Given the description of an element on the screen output the (x, y) to click on. 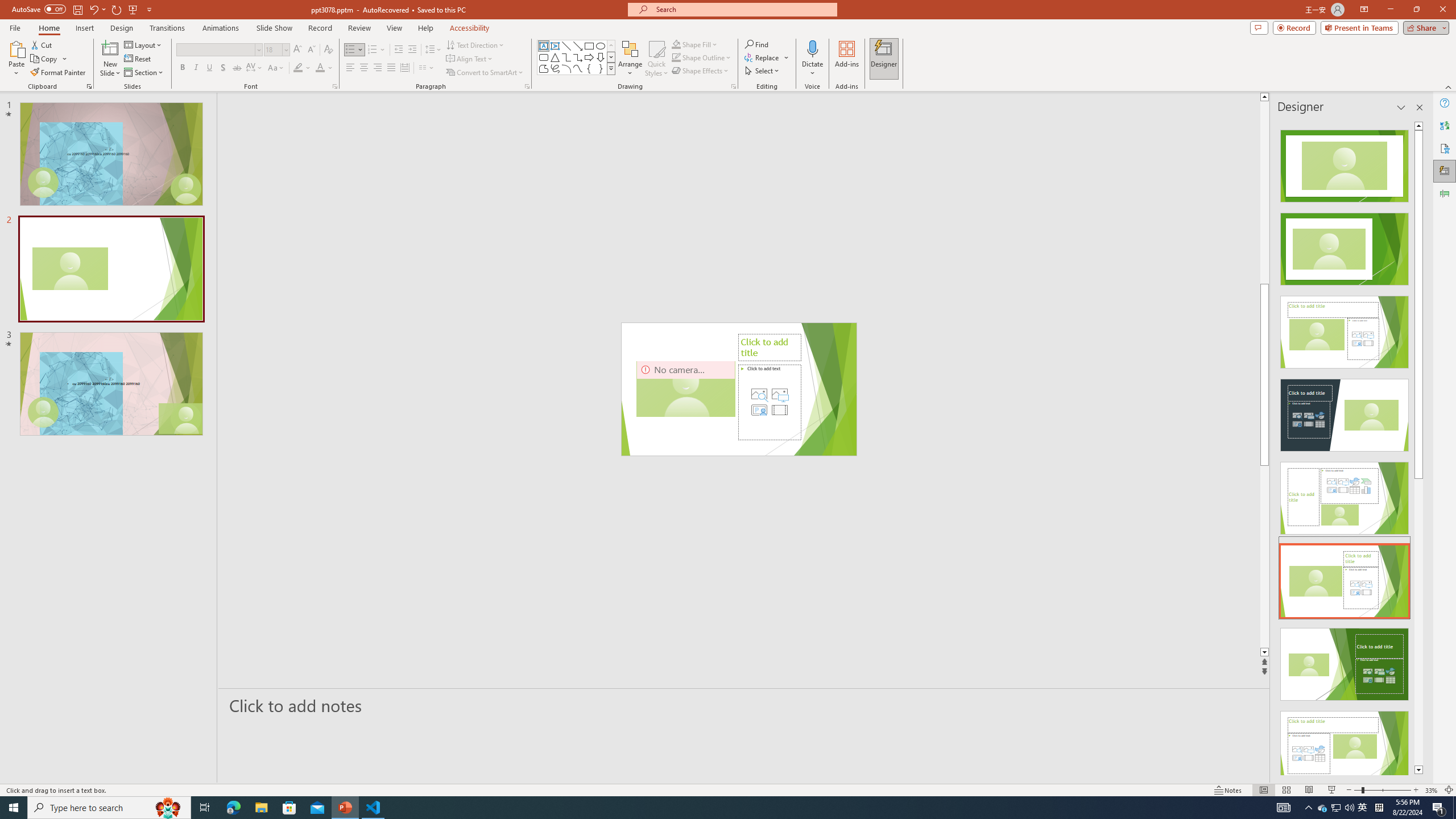
Class: NetUIScrollBar (1418, 447)
Animation Pane (1444, 193)
Camera 3, No camera detected. (685, 388)
